Given the description of an element on the screen output the (x, y) to click on. 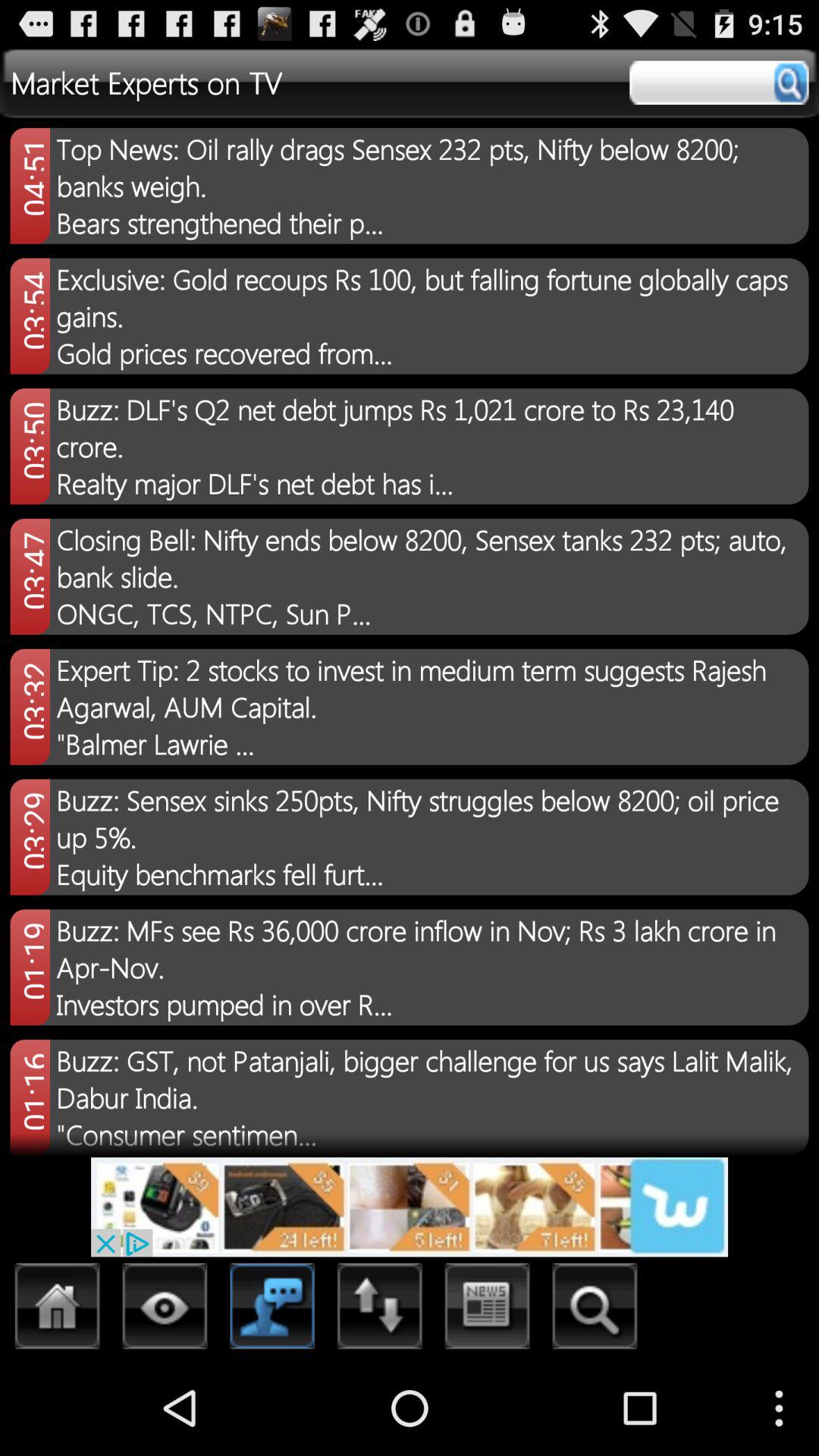
go to search (718, 82)
